Given the description of an element on the screen output the (x, y) to click on. 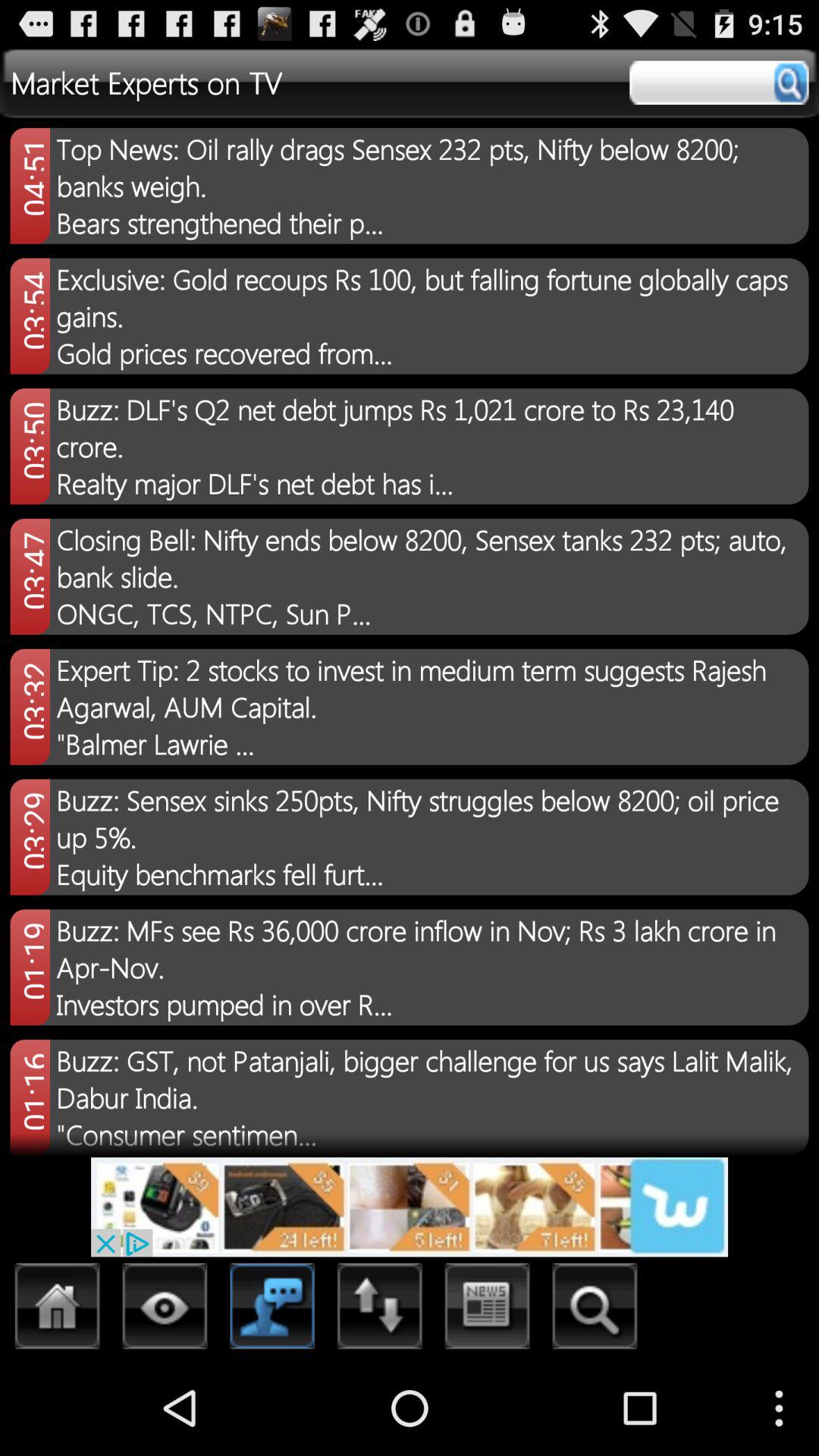
go to search (718, 82)
